Given the description of an element on the screen output the (x, y) to click on. 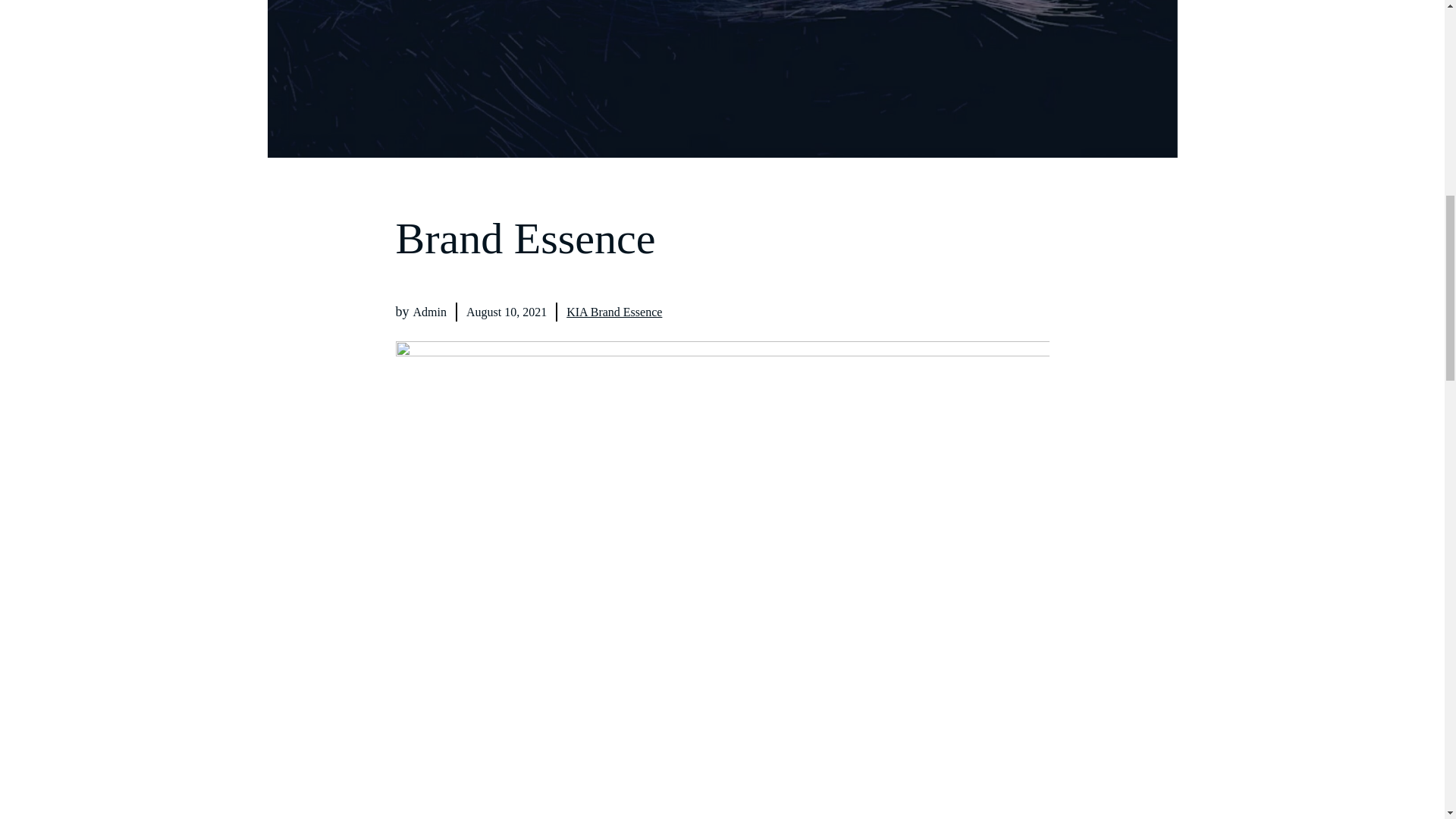
KIA Brand Essence (614, 311)
